Given the description of an element on the screen output the (x, y) to click on. 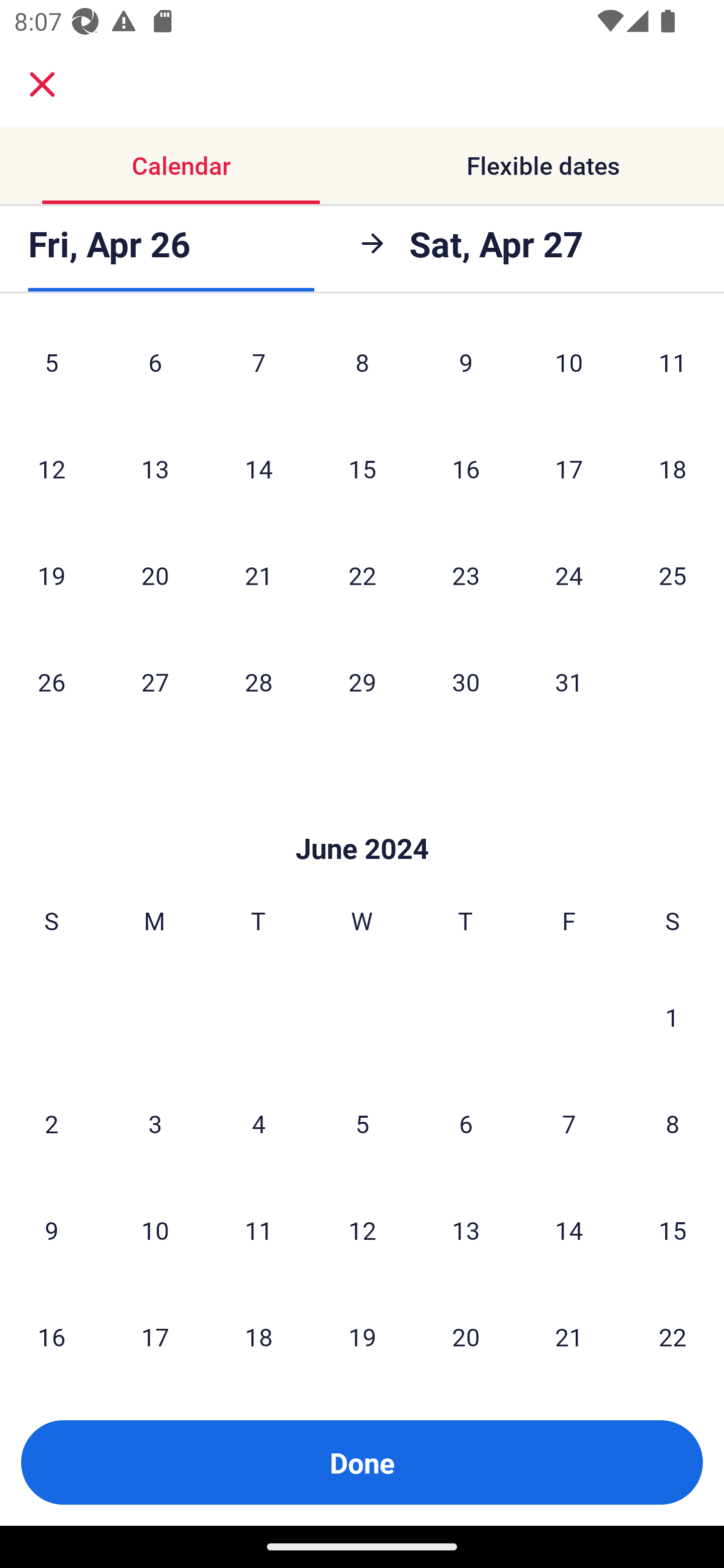
close. (42, 84)
Flexible dates (542, 164)
5 Sunday, May 5, 2024 (51, 367)
6 Monday, May 6, 2024 (155, 367)
7 Tuesday, May 7, 2024 (258, 367)
8 Wednesday, May 8, 2024 (362, 367)
9 Thursday, May 9, 2024 (465, 367)
10 Friday, May 10, 2024 (569, 367)
11 Saturday, May 11, 2024 (672, 367)
12 Sunday, May 12, 2024 (51, 468)
13 Monday, May 13, 2024 (155, 468)
14 Tuesday, May 14, 2024 (258, 468)
15 Wednesday, May 15, 2024 (362, 468)
16 Thursday, May 16, 2024 (465, 468)
17 Friday, May 17, 2024 (569, 468)
18 Saturday, May 18, 2024 (672, 468)
19 Sunday, May 19, 2024 (51, 575)
20 Monday, May 20, 2024 (155, 575)
21 Tuesday, May 21, 2024 (258, 575)
22 Wednesday, May 22, 2024 (362, 575)
